Given the description of an element on the screen output the (x, y) to click on. 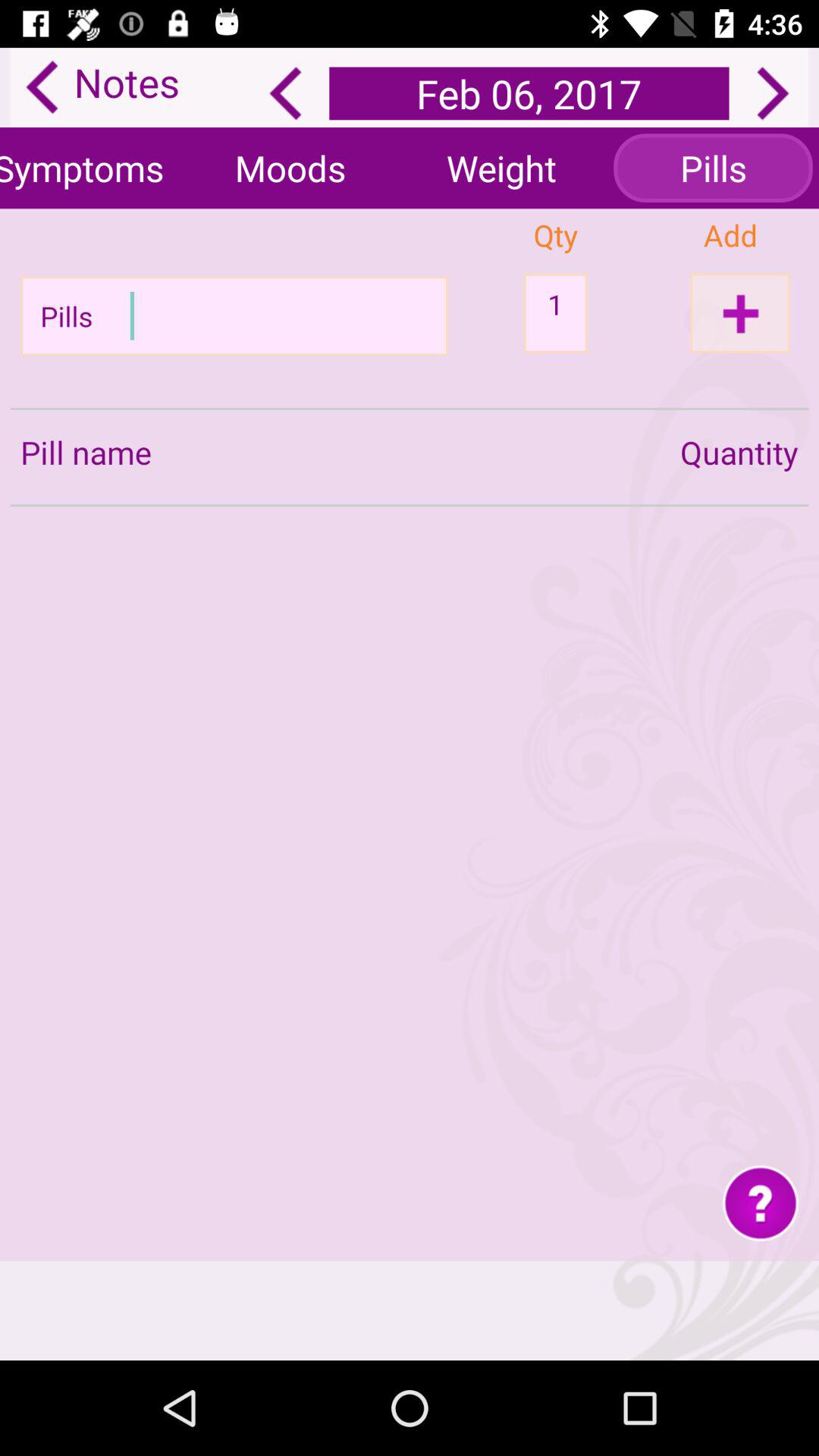
open information (760, 1202)
